Given the description of an element on the screen output the (x, y) to click on. 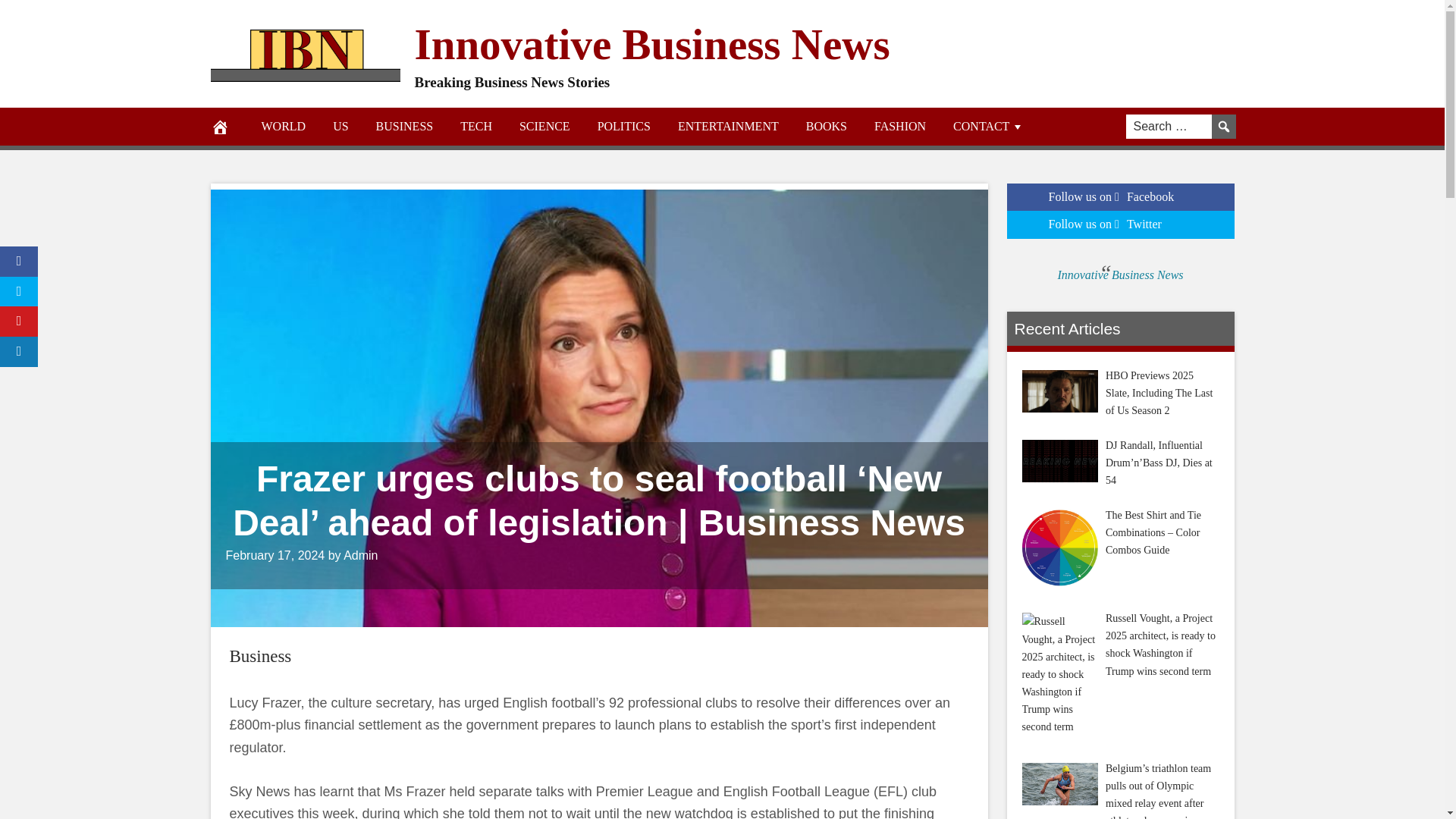
BOOKS (826, 126)
ENTERTAINMENT (727, 126)
HBO Previews 2025 Slate, Including The Last of Us Season 2 (1059, 391)
BUSINESS (404, 126)
US (339, 126)
TECH (475, 126)
POLITICS (623, 126)
CONTACT (988, 126)
Business (259, 656)
WORLD (282, 126)
FASHION (899, 126)
SCIENCE (544, 126)
Innovative Business News (651, 43)
